Given the description of an element on the screen output the (x, y) to click on. 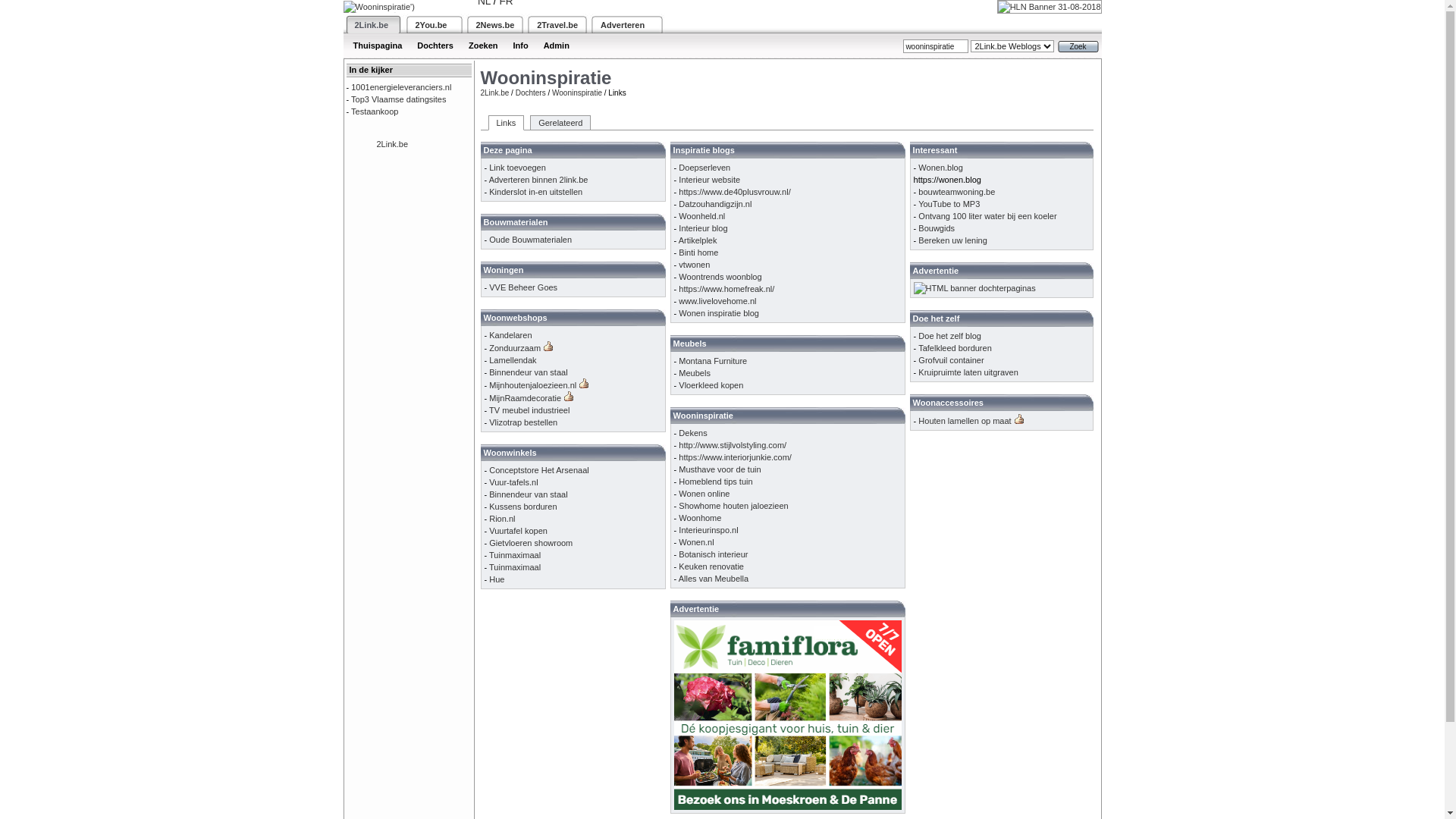
Testaankoop Element type: text (374, 111)
2Link.be Element type: text (494, 92)
Datzouhandigzijn.nl Element type: text (714, 203)
1001energieleveranciers.nl Element type: text (401, 86)
Showhome houten jaloezieen Element type: text (732, 505)
Ontvang 100 liter water bij een koeler Element type: text (987, 215)
Conceptstore Het Arsenaal Element type: text (538, 469)
VVE Beheer Goes Element type: text (523, 286)
2Travel.be Element type: text (556, 24)
Hue Element type: text (496, 578)
bouwteamwoning.be Element type: text (956, 191)
Kussens borduren Element type: text (522, 506)
http://www.stijlvolstyling.com/ Element type: text (732, 444)
Interieur website Element type: text (709, 179)
Interieur blog Element type: text (702, 227)
Adverteren Element type: text (622, 24)
Wonen inspiratie blog Element type: text (718, 312)
Info Element type: text (520, 45)
Gerelateerd Element type: text (560, 122)
Binnendeur van staal Element type: text (528, 371)
Tafelkleed borduren Element type: text (954, 347)
Zoeken Element type: text (483, 45)
Lamellendak Element type: text (512, 359)
Tuinmaximaal Element type: text (514, 566)
Thuispagina Element type: text (377, 45)
Link toevoegen Element type: text (517, 167)
Vuurtafel kopen Element type: text (518, 530)
https://www.de40plusvrouw.nl/ Element type: text (734, 191)
Vloerkleed kopen Element type: text (710, 384)
Musthave voor de tuin Element type: text (719, 468)
Tuinmaximaal Element type: text (514, 554)
Botanisch interieur Element type: text (712, 553)
Houten lamellen op maat Element type: text (964, 420)
Rion.nl Element type: text (501, 518)
Zoek Element type: text (1077, 46)
Meubels Element type: text (694, 372)
Homeblend tips tuin Element type: text (715, 481)
Mijnhoutenjaloezieen.nl Element type: text (532, 384)
Artikelplek Element type: text (697, 239)
Woontrends woonblog Element type: text (719, 276)
Wonen.blog Element type: text (940, 167)
Binti home Element type: text (698, 252)
Montana Furniture Element type: text (712, 360)
https://www.interiorjunkie.com/ Element type: text (734, 456)
Kinderslot in-en uitstellen Element type: text (535, 191)
Bereken uw lening Element type: text (952, 239)
Oude Bouwmaterialen Element type: text (530, 239)
YouTube to MP3 Element type: text (948, 203)
Zonduurzaam Element type: text (514, 347)
MijnRaamdecoratie Element type: text (525, 397)
Top3 Vlaamse datingsites Element type: text (398, 98)
2Link.be Element type: text (391, 143)
Admin Element type: text (556, 45)
Grofvuil container Element type: text (950, 359)
Links Element type: text (506, 122)
Alles van Meubella Element type: text (713, 578)
Dekens Element type: text (692, 432)
Kruipruimte laten uitgraven Element type: text (967, 371)
Binnendeur van staal Element type: text (528, 493)
Interieurinspo.nl Element type: text (707, 529)
2You.be Element type: text (431, 24)
Gietvloeren showroom Element type: text (530, 542)
2News.be Element type: text (495, 24)
Adverteren binnen 2link.be Element type: text (538, 179)
https://www.homefreak.nl/ Element type: text (726, 288)
Keuken renovatie Element type: text (710, 566)
Woonheld.nl Element type: text (701, 215)
vtwonen Element type: text (693, 264)
Doe het zelf blog Element type: text (949, 335)
Dochters Element type: text (435, 45)
Wooninspiratie Element type: text (577, 92)
Wonen online Element type: text (703, 493)
Dochters Element type: text (530, 92)
TV meubel industrieel Element type: text (529, 409)
Bouwgids Element type: text (936, 227)
Wonen.nl Element type: text (695, 541)
2Link.be Element type: text (371, 24)
Vuur-tafels.nl Element type: text (513, 481)
Vlizotrap bestellen Element type: text (523, 421)
Doepserleven Element type: text (704, 167)
Kandelaren Element type: text (510, 334)
Woonhome Element type: text (699, 517)
www.livelovehome.nl Element type: text (717, 300)
